Given the description of an element on the screen output the (x, y) to click on. 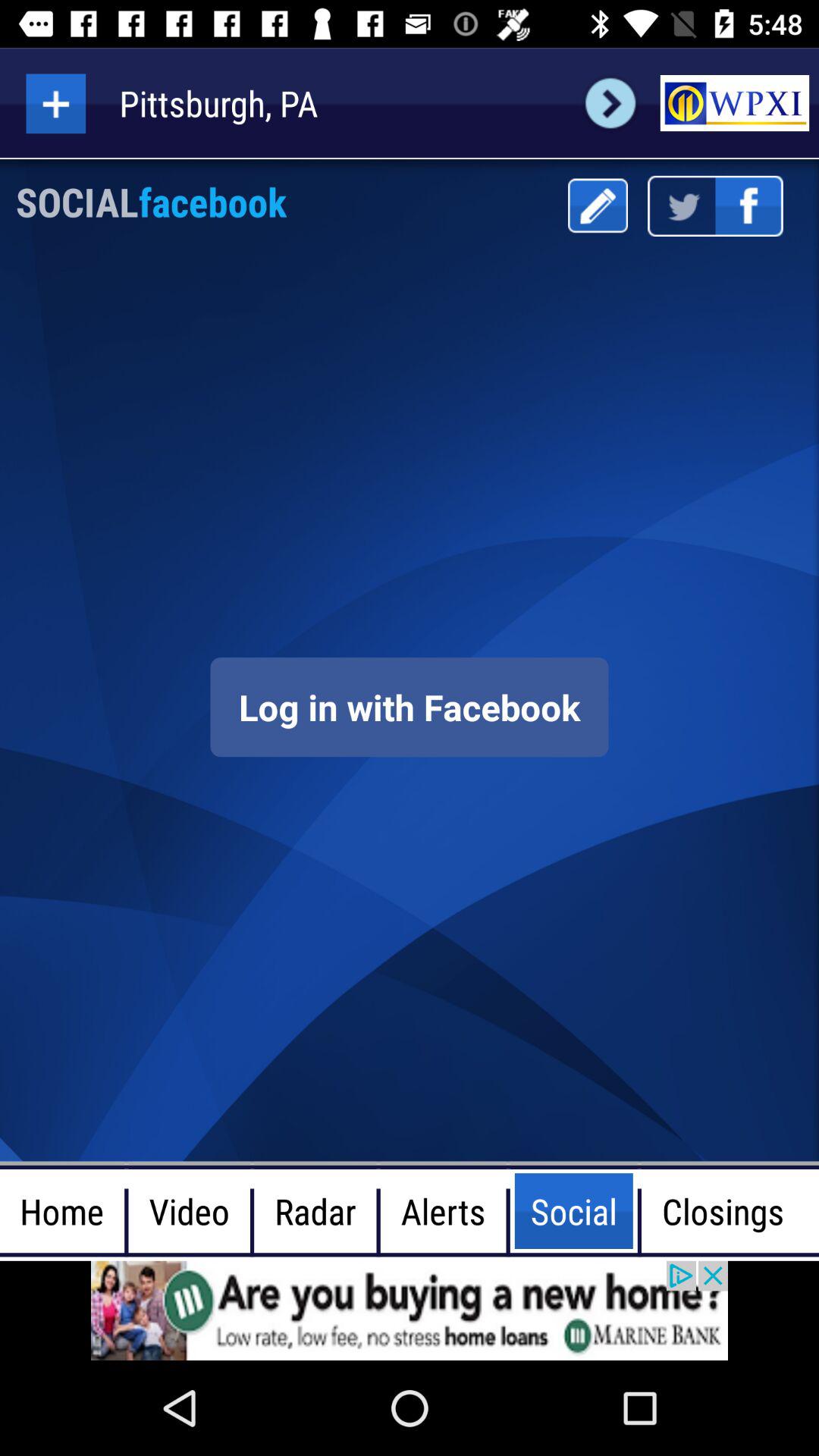
write (597, 206)
